Given the description of an element on the screen output the (x, y) to click on. 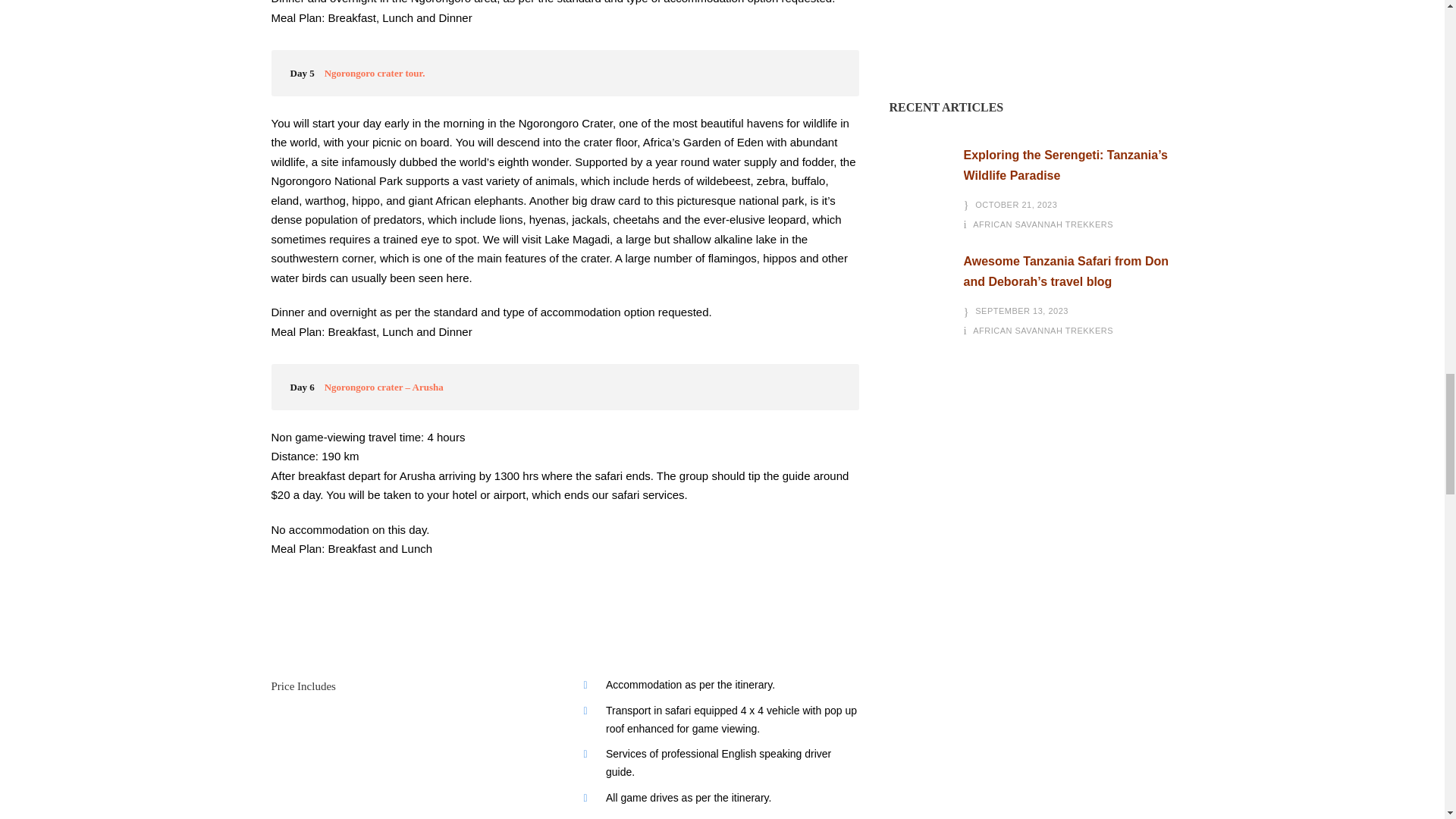
Posts by African Savannah Trekkers (1042, 329)
Posts by African Savannah Trekkers (1042, 224)
